Given the description of an element on the screen output the (x, y) to click on. 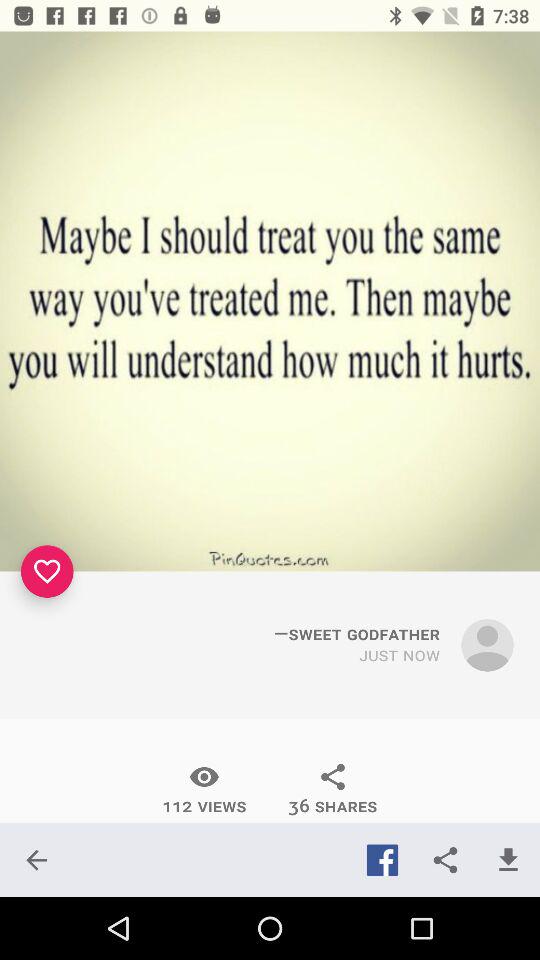
add to favorites (47, 571)
